Given the description of an element on the screen output the (x, y) to click on. 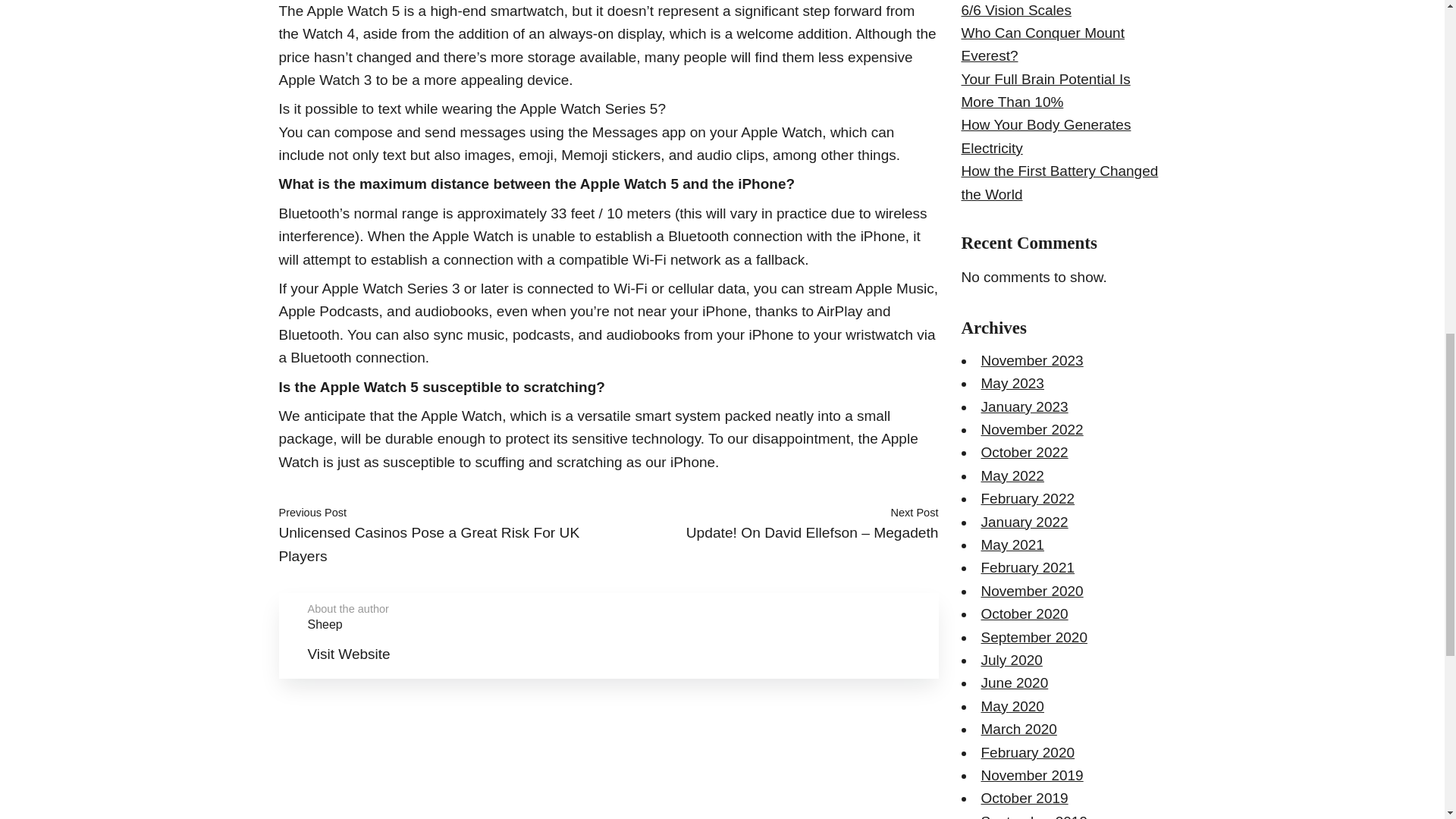
Sheep (324, 623)
February 2022 (1028, 498)
November 2023 (1032, 360)
Unlicensed Casinos Pose a Great Risk For UK Players (429, 544)
June 2020 (1014, 682)
September 2020 (1034, 637)
May 2021 (1012, 544)
February 2021 (1028, 567)
January 2022 (1024, 521)
November 2022 (1032, 429)
